Given the description of an element on the screen output the (x, y) to click on. 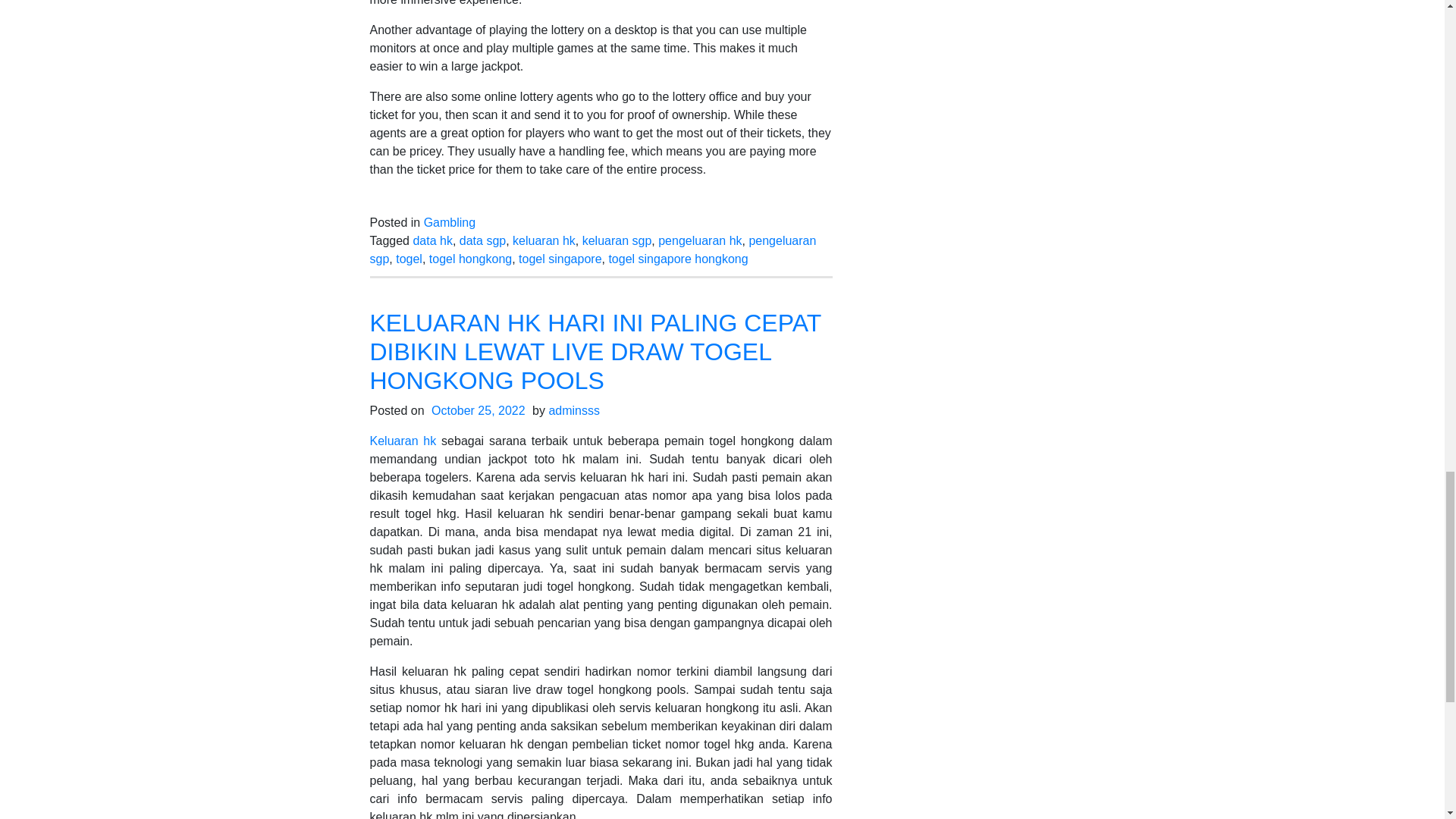
Gambling (449, 222)
keluaran hk (543, 240)
data hk (431, 240)
data sgp (482, 240)
